Given the description of an element on the screen output the (x, y) to click on. 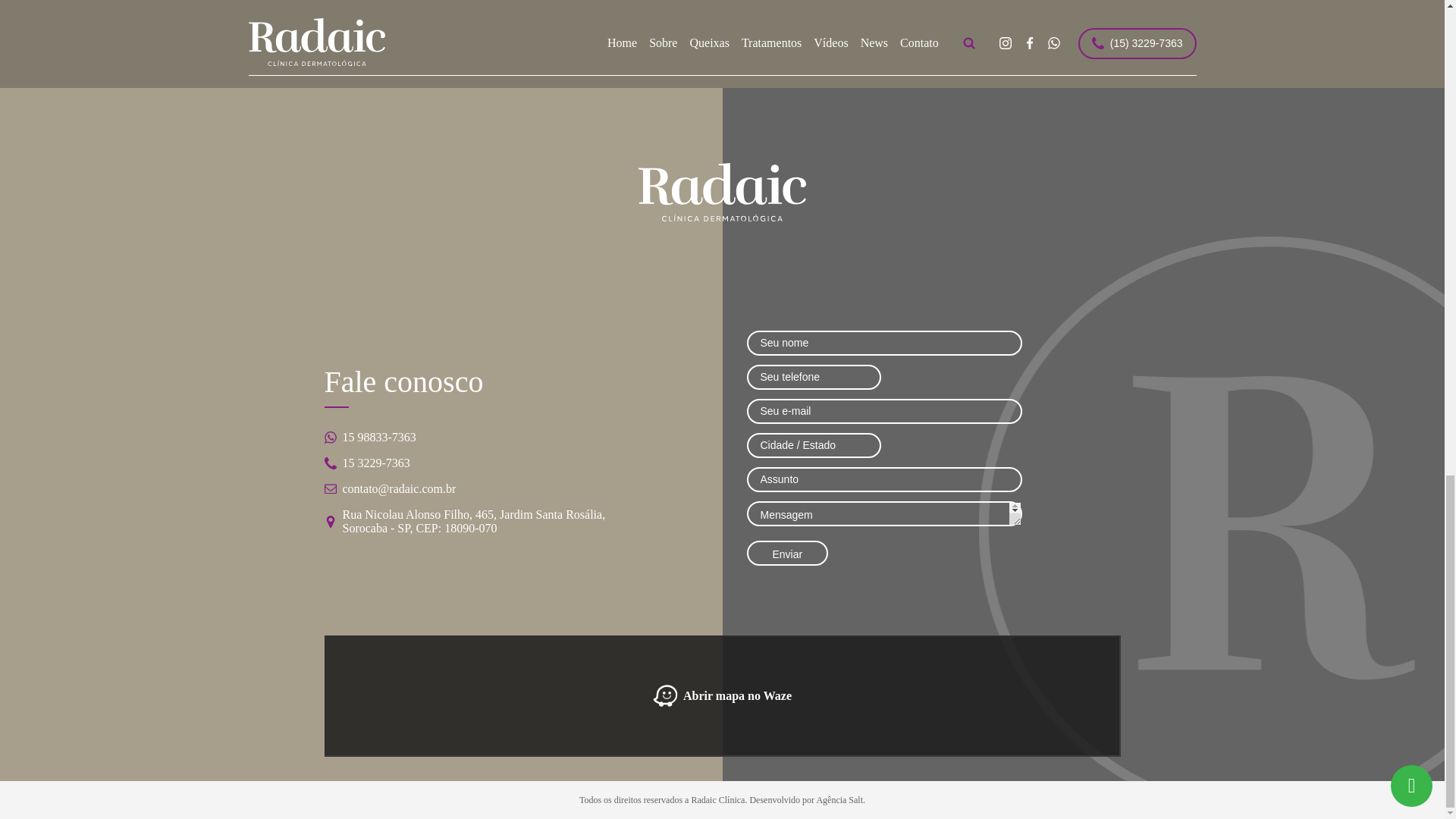
15 98833-7363 (473, 437)
Abrir mapa no Waze (722, 695)
Enviar (786, 552)
15 3229-7363 (473, 462)
Enviar (786, 552)
